Given the description of an element on the screen output the (x, y) to click on. 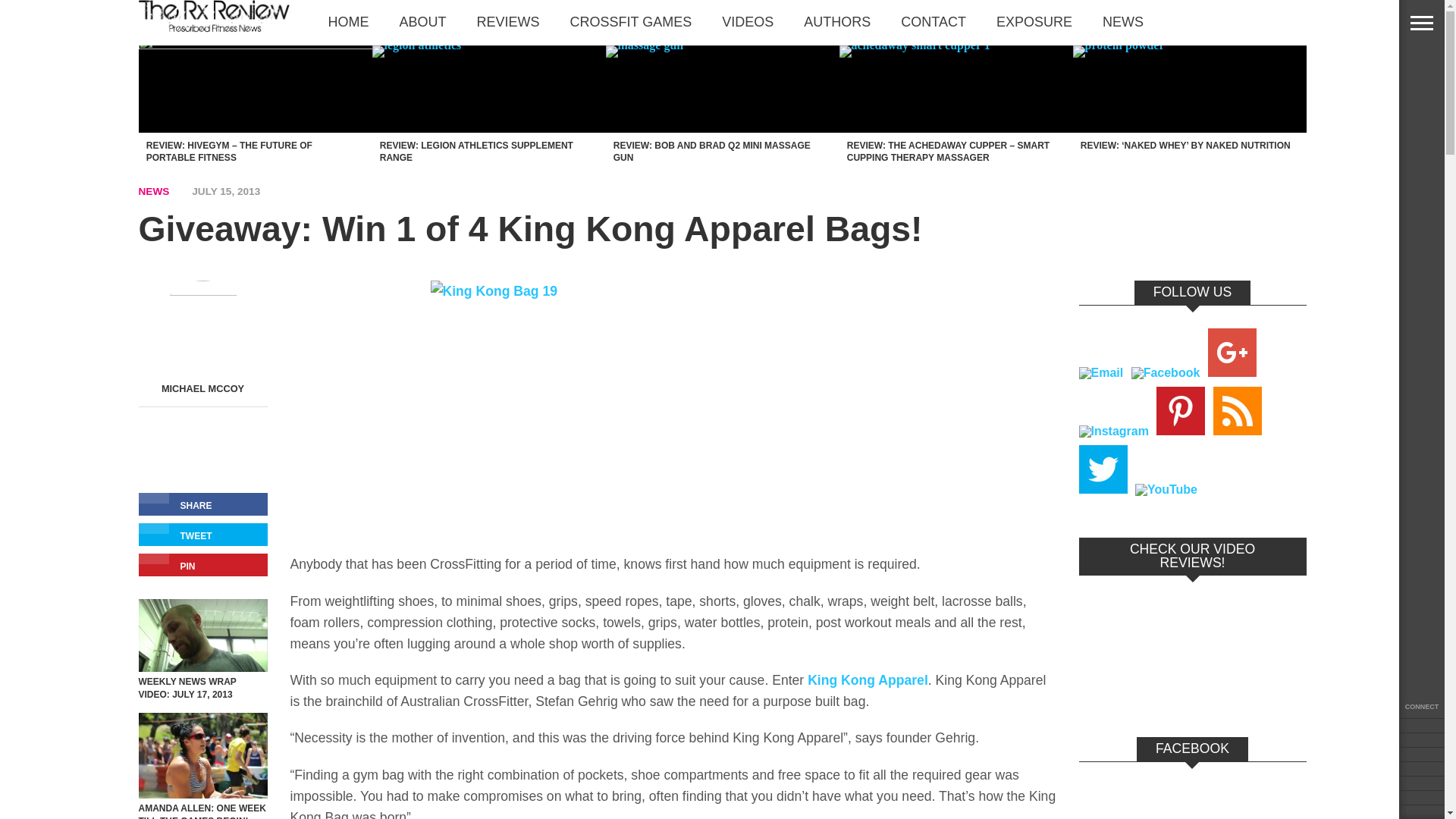
RSS Feed (1237, 410)
NEWS (153, 191)
CONTACT (933, 22)
VIDEOS (747, 22)
Email (1100, 372)
HOME (348, 22)
MICHAEL MCCOY (202, 388)
King Kong Apparel (868, 679)
Pinterest (1180, 410)
AUTHORS (837, 22)
EXPOSURE (1034, 22)
CROSSFIT GAMES (630, 22)
REVIEWS (507, 22)
YouTube (1165, 490)
NEWS (1122, 22)
